Given the description of an element on the screen output the (x, y) to click on. 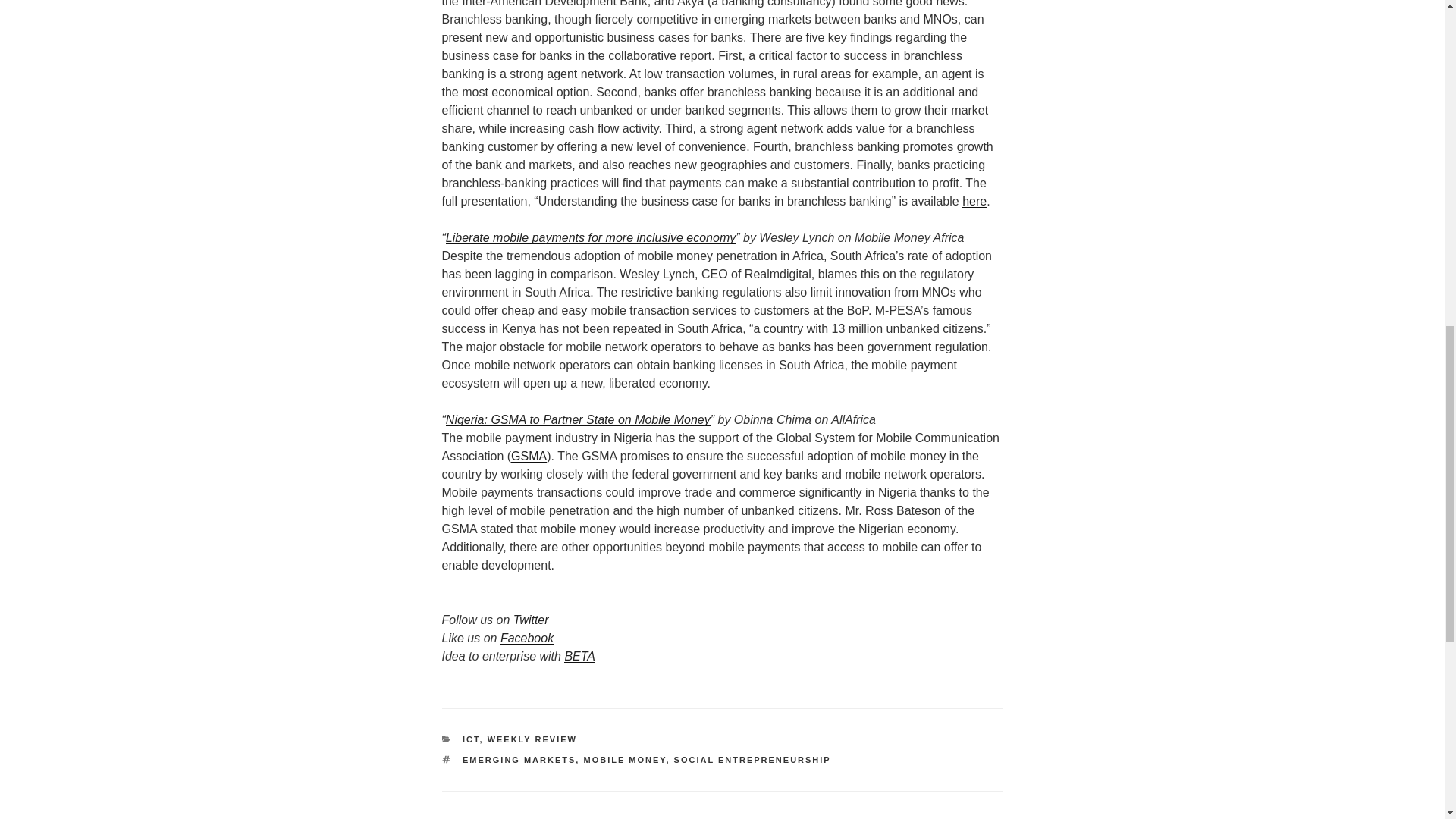
Liberate mobile payments for more inclusive economy (590, 237)
GSMA (529, 455)
here (974, 201)
Facebook (526, 637)
MOBILE MONEY (624, 759)
Twitter (530, 619)
SOCIAL ENTREPRENEURSHIP (752, 759)
WEEKLY REVIEW (531, 738)
ICT (471, 738)
BETA (579, 656)
EMERGING MARKETS (519, 759)
Nigeria: GSMA to Partner State on Mobile Money (577, 419)
